Given the description of an element on the screen output the (x, y) to click on. 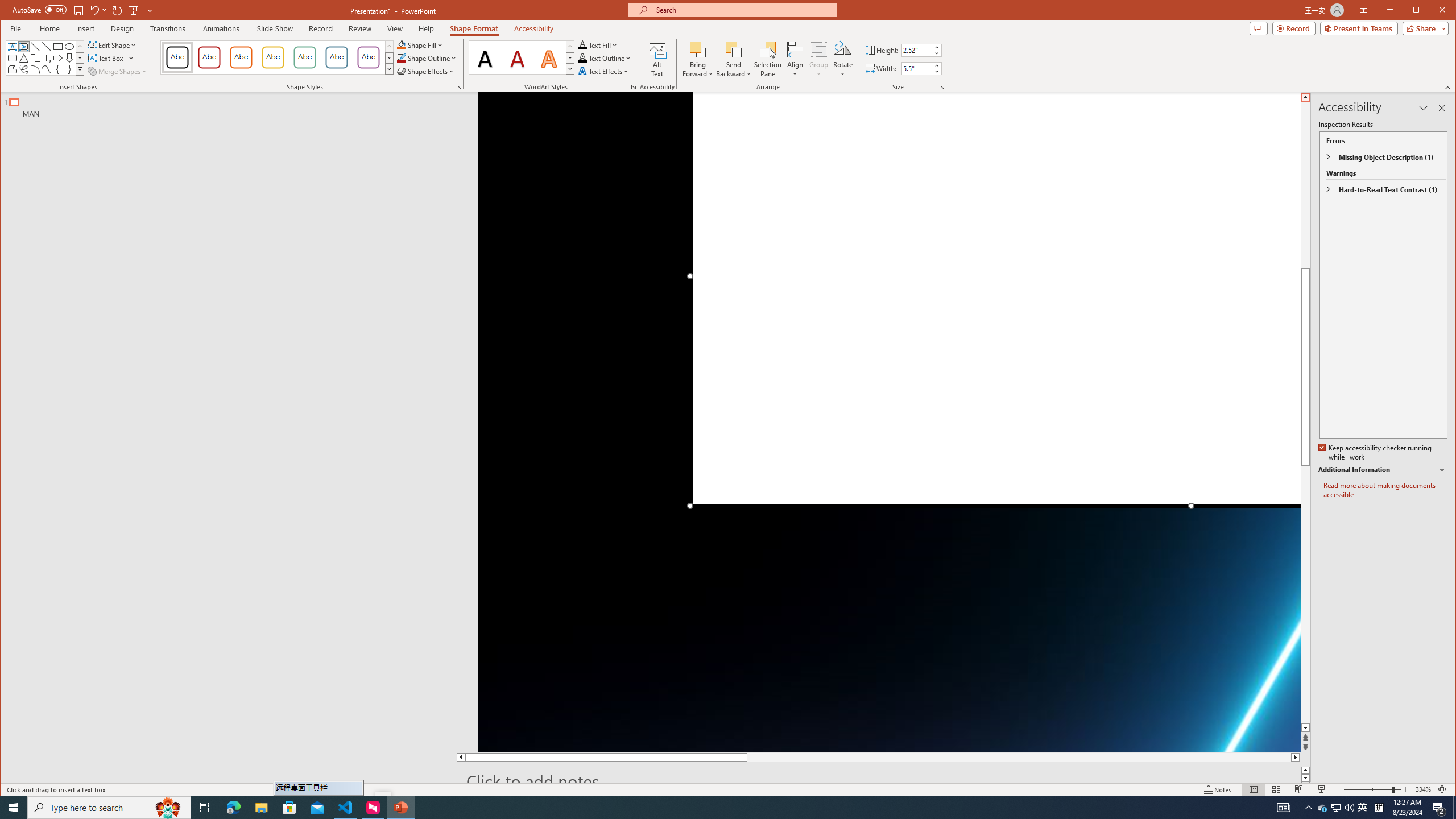
Microsoft Edge (233, 807)
Slide Notes (882, 780)
Shape Height (916, 50)
Draw Horizontal Text Box (106, 57)
Selection Pane... (767, 59)
Additional Information (1382, 469)
Zoom 334% (1422, 789)
Format Text Effects... (632, 86)
Colored Outline - Purple, Accent 6 (368, 57)
